Given the description of an element on the screen output the (x, y) to click on. 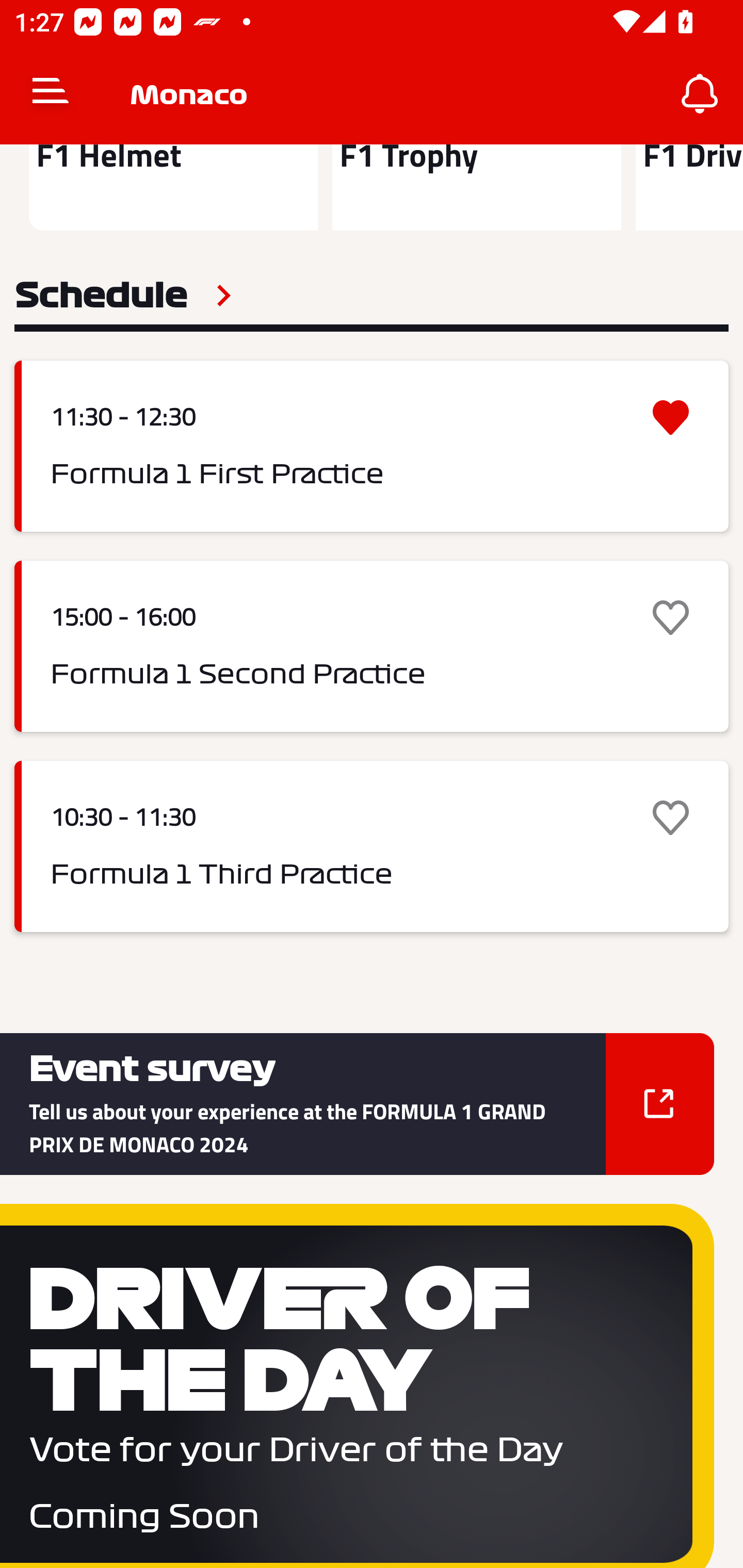
Navigate up (50, 93)
Notifications (699, 93)
F1 Helmet (173, 187)
F1 Trophy (476, 187)
Schedule (122, 295)
11:30 - 12:30 Formula 1 First Practice (371, 445)
15:00 - 16:00 Formula 1 Second Practice (371, 646)
10:30 - 11:30 Formula 1 Third Practice (371, 845)
